Given the description of an element on the screen output the (x, y) to click on. 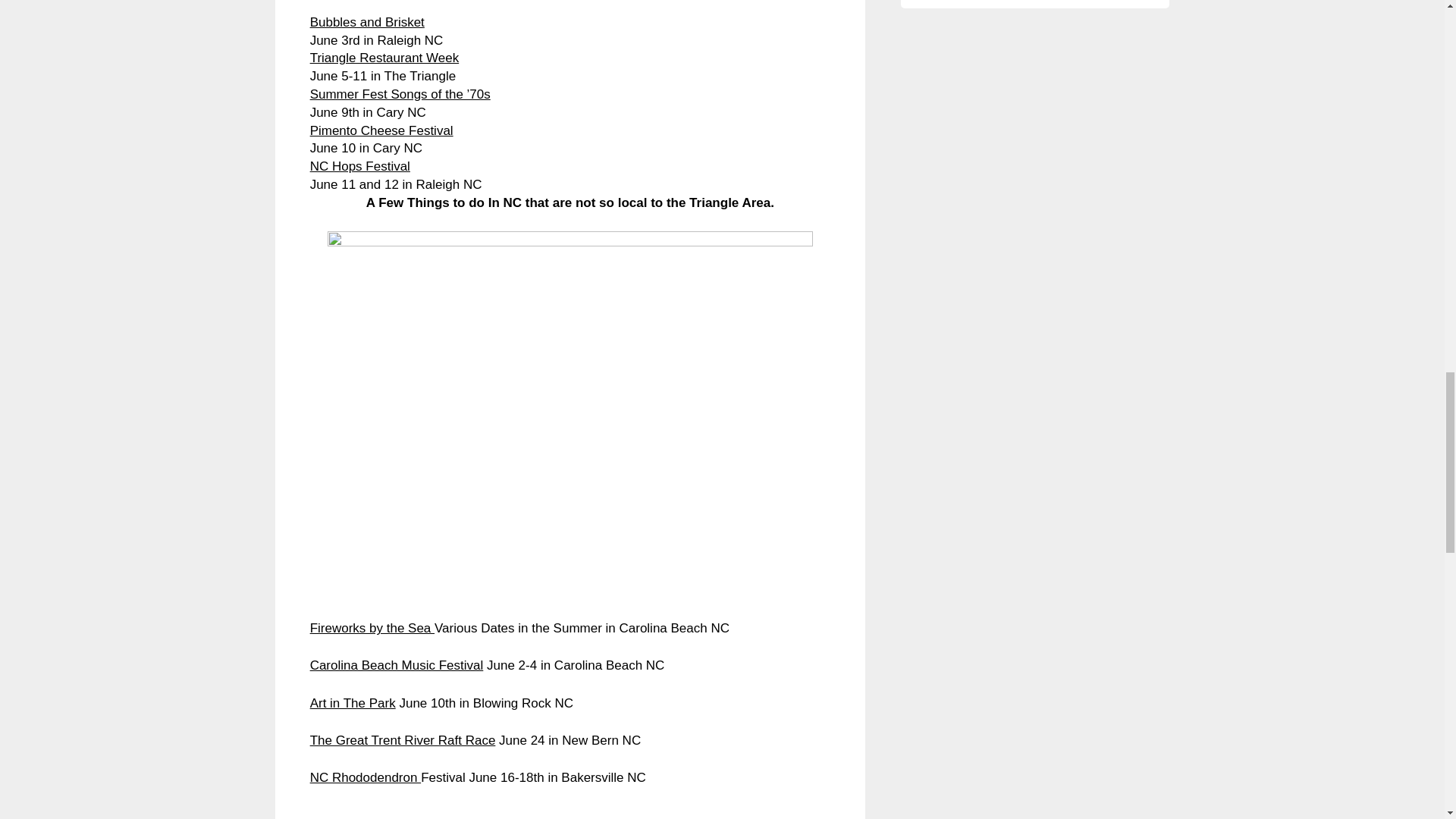
Bubbles and Brisket (367, 22)
Fireworks by the Sea (371, 627)
NC Hops Festival (360, 165)
Carolina Beach Music Festival (396, 665)
NC Rhododendron (365, 777)
Pimento Cheese Festival (381, 130)
Triangle Restaurant Week (385, 57)
The Great Trent River Raft Race (403, 740)
Art in The Park (353, 703)
